Given the description of an element on the screen output the (x, y) to click on. 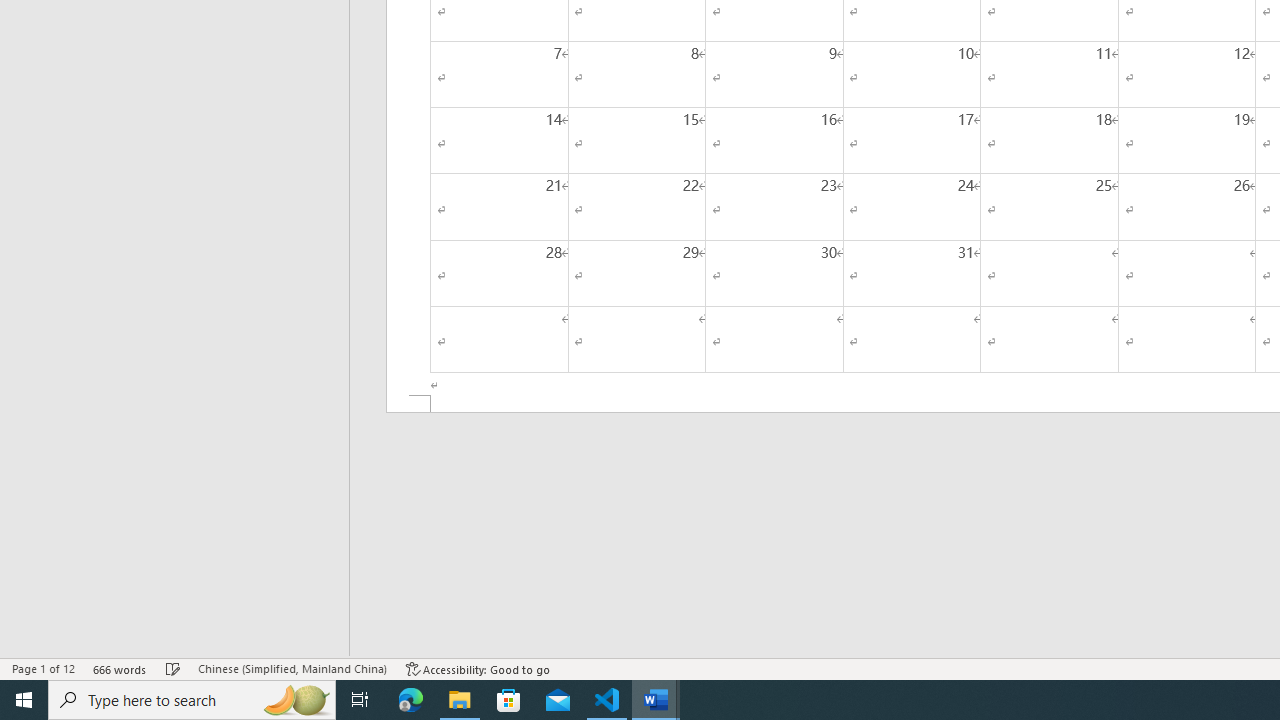
Accessibility Checker Accessibility: Good to go (478, 668)
Language Chinese (Simplified, Mainland China) (292, 668)
Page Number Page 1 of 12 (43, 668)
Word Count 666 words (119, 668)
Spelling and Grammar Check Checking (173, 668)
